Given the description of an element on the screen output the (x, y) to click on. 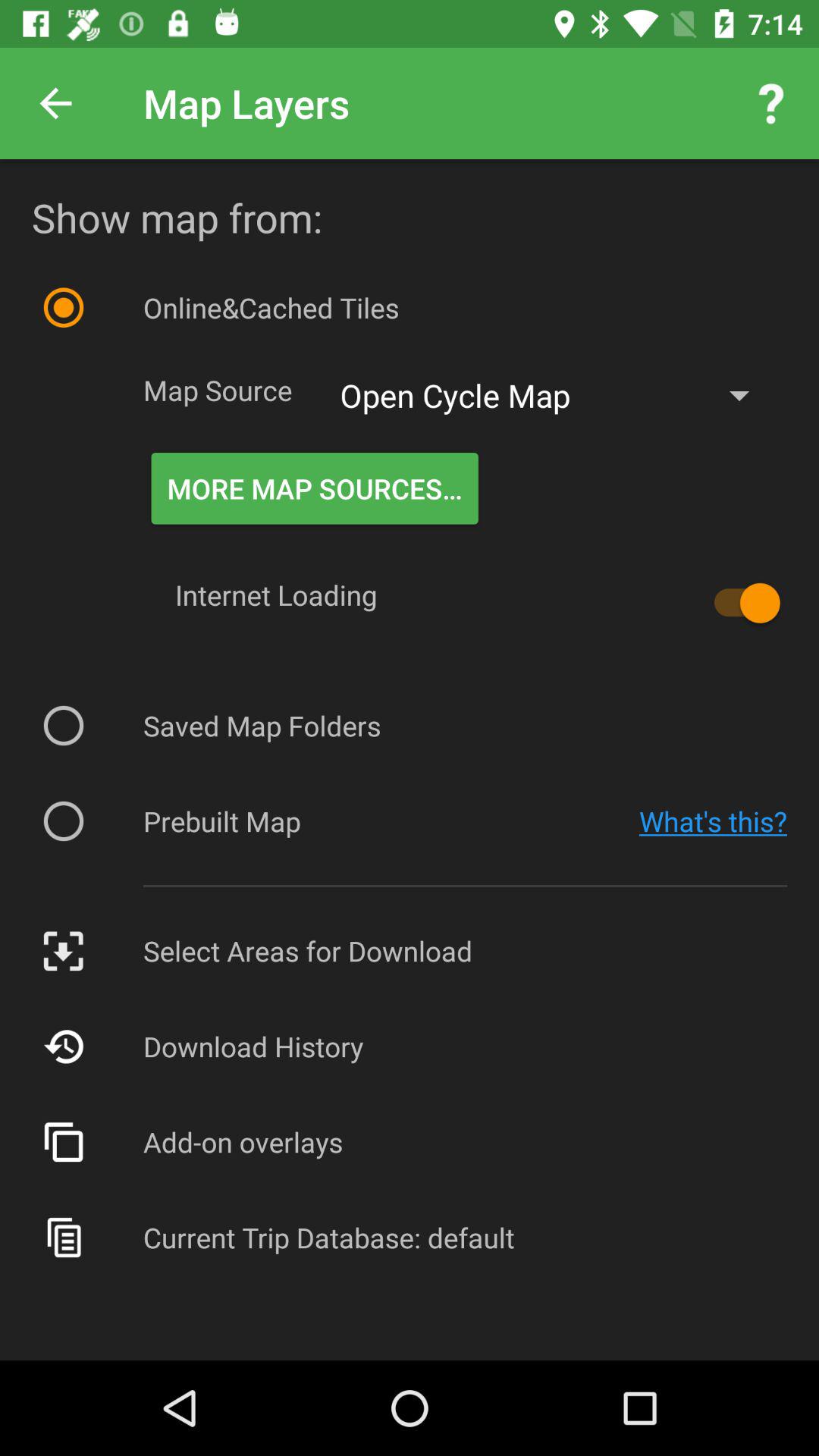
tap item below open cycle map (739, 603)
